Given the description of an element on the screen output the (x, y) to click on. 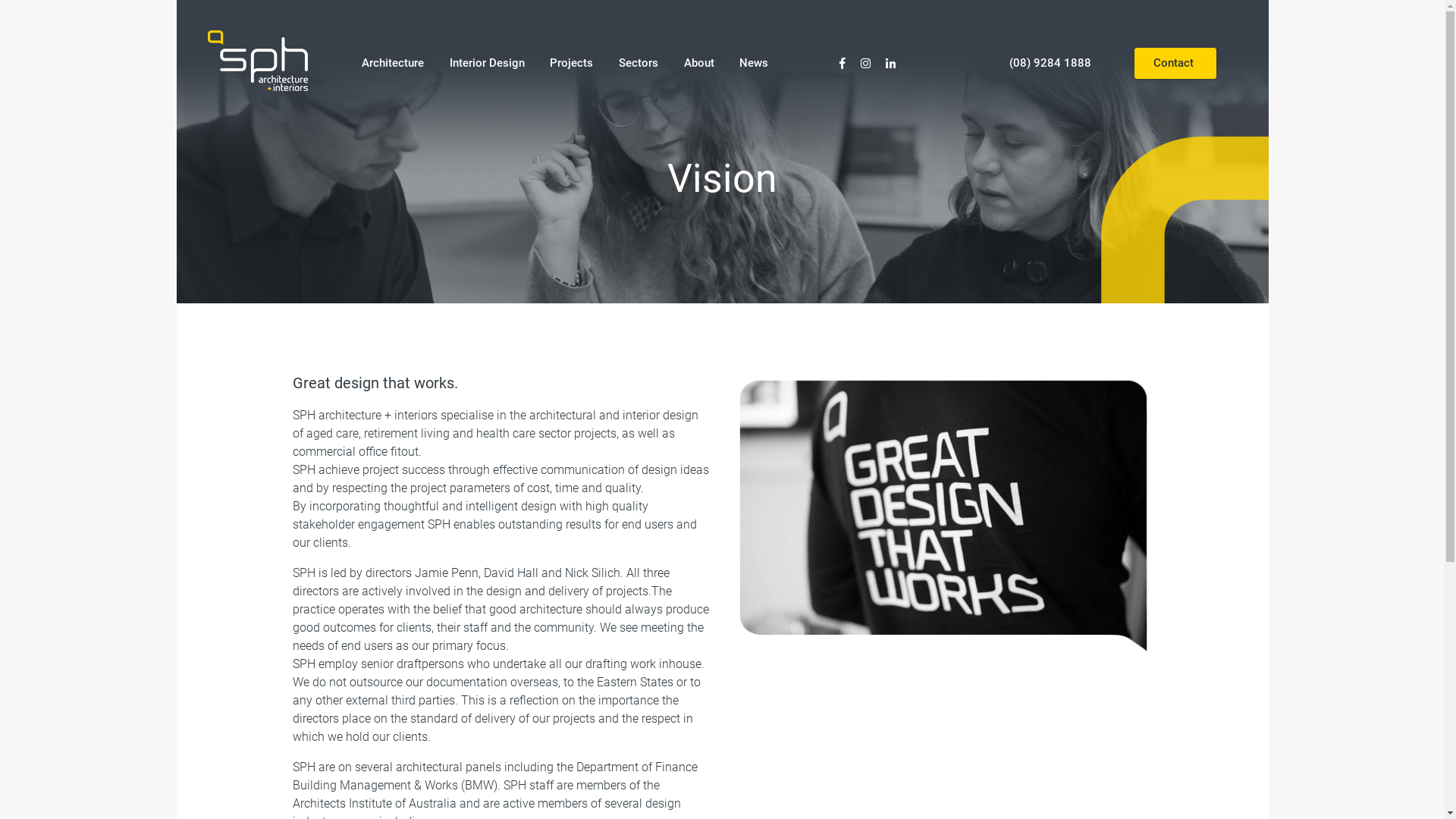
Projects Element type: text (573, 63)
(08) 9284 1888 Element type: text (1051, 62)
Click here to view us on Linked In Element type: hover (890, 59)
Architecture Element type: text (395, 63)
Interior Design Element type: text (488, 63)
Contact Element type: text (1175, 62)
About Element type: text (700, 63)
Click here to view us on Facebook Element type: hover (842, 59)
Click here to view us on Instagram Element type: hover (865, 59)
News Element type: text (755, 63)
Sectors Element type: text (640, 63)
